Given the description of an element on the screen output the (x, y) to click on. 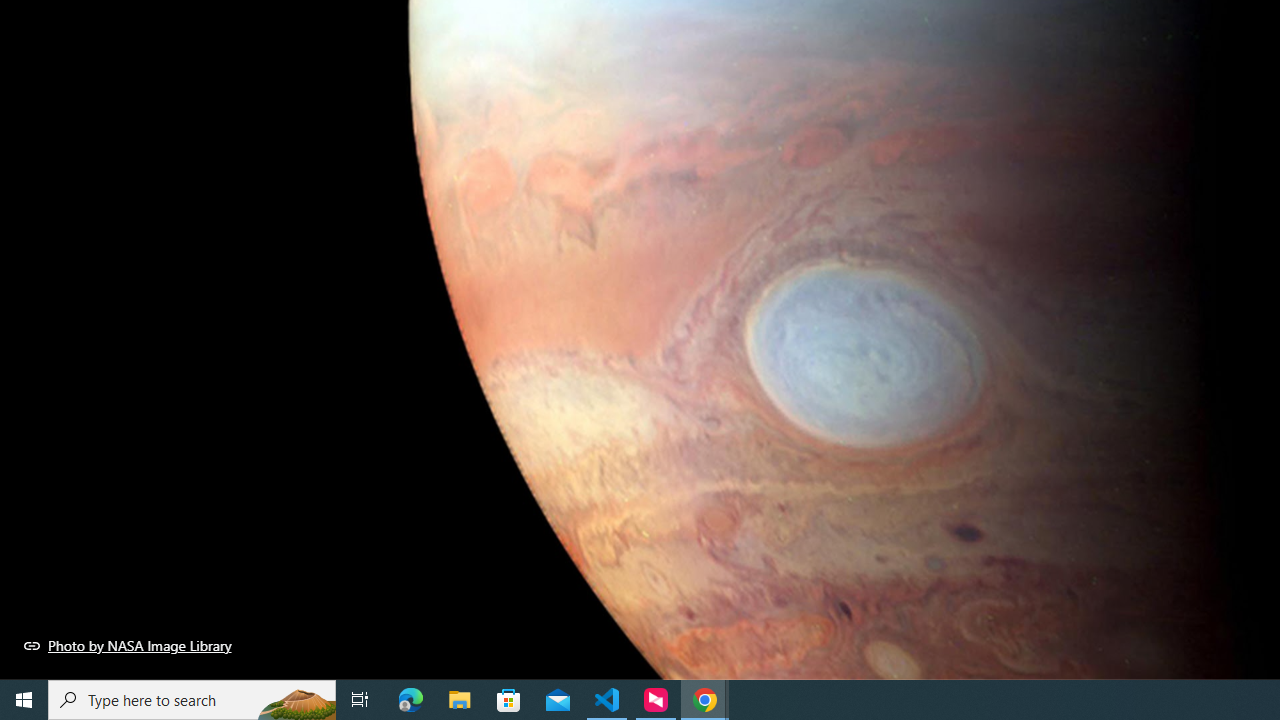
Photo by NASA Image Library (127, 645)
